Given the description of an element on the screen output the (x, y) to click on. 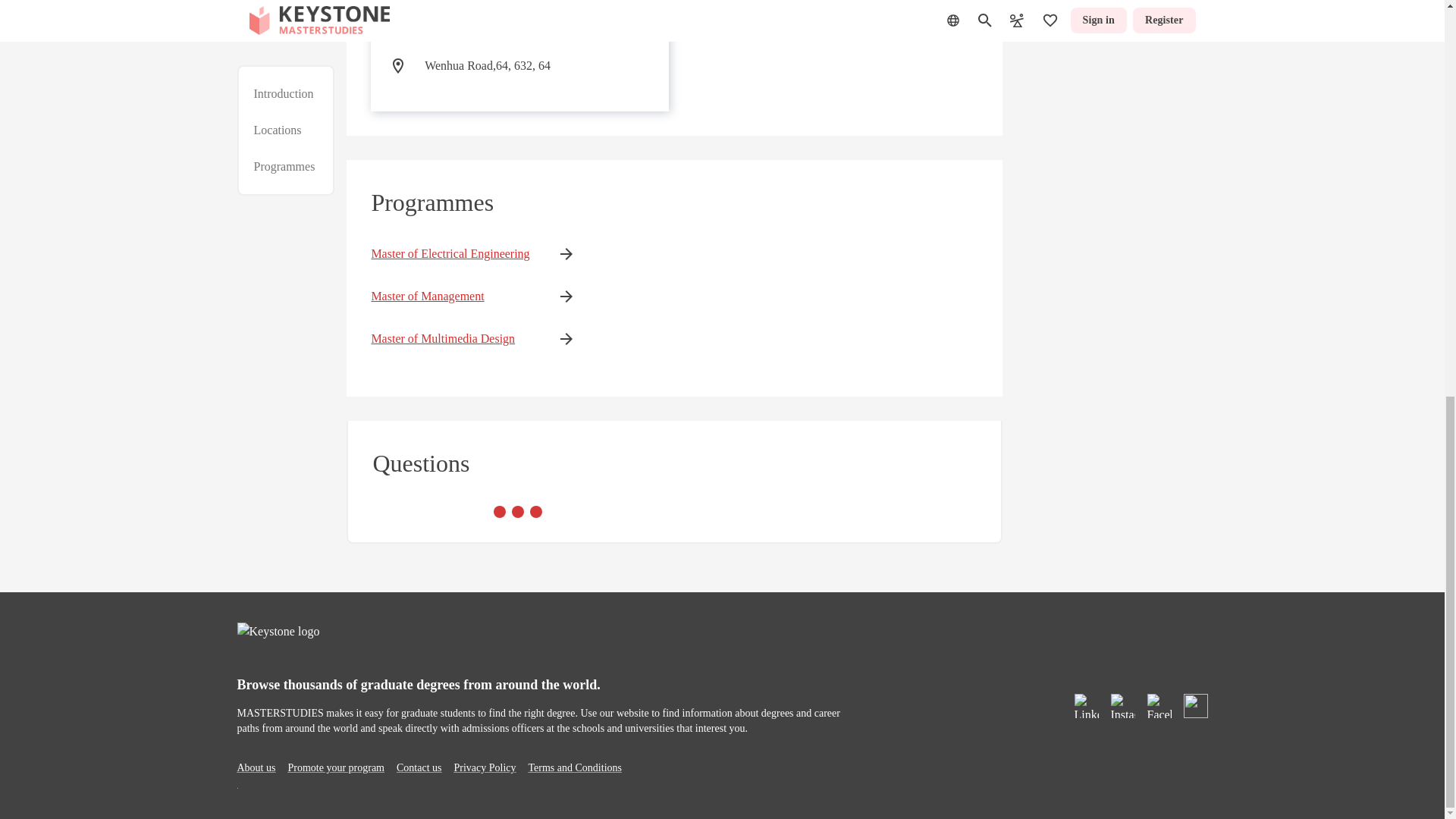
Master of Management (450, 296)
Contact us (419, 767)
Privacy Policy (483, 767)
Promote your program (335, 767)
Master of Multimedia Design (450, 339)
Terms and Conditions (574, 767)
About us (255, 767)
Master of Electrical Engineering (450, 253)
